Given the description of an element on the screen output the (x, y) to click on. 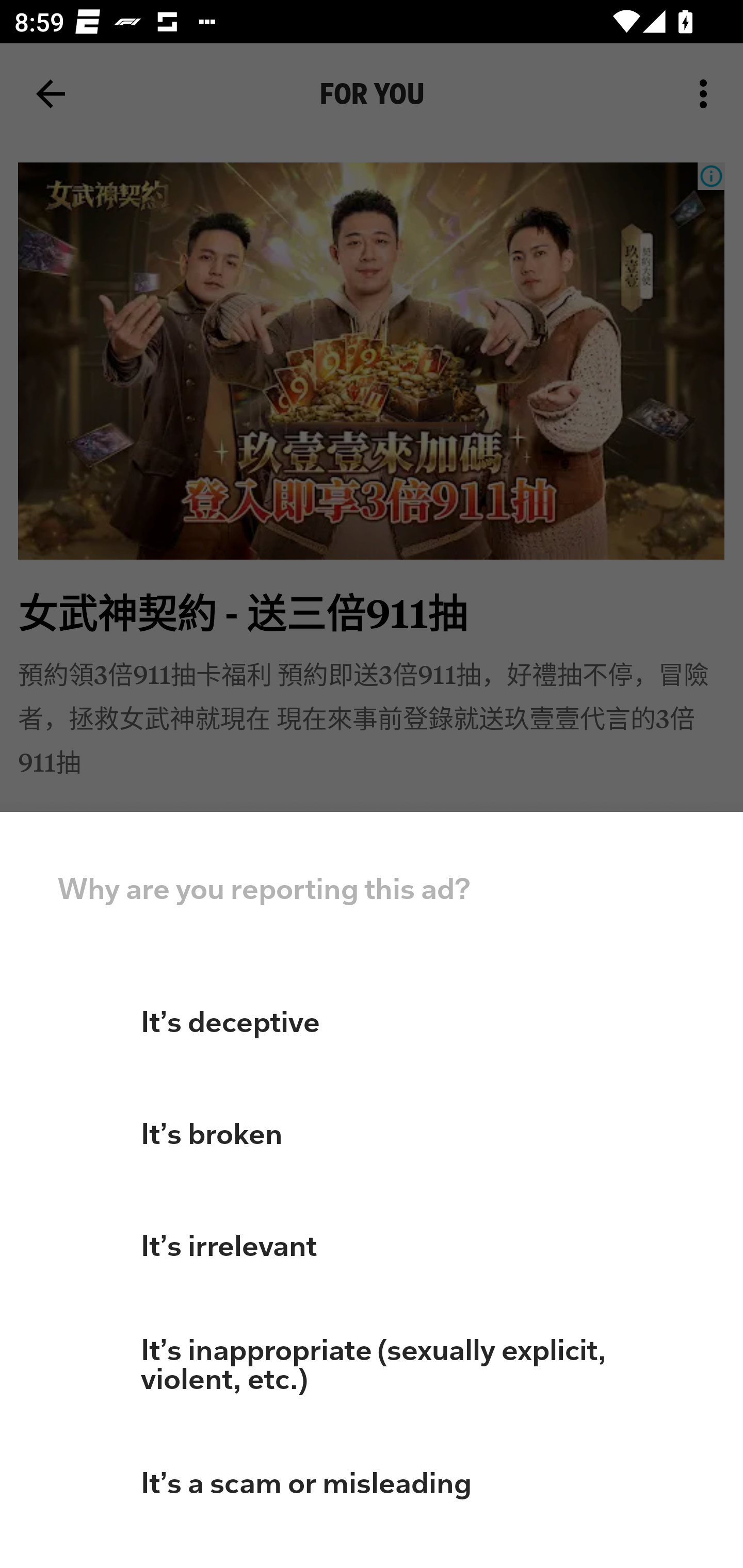
It’s deceptive (371, 1021)
It’s broken (371, 1134)
It’s irrelevant (371, 1245)
It’s a scam or misleading (371, 1482)
